Given the description of an element on the screen output the (x, y) to click on. 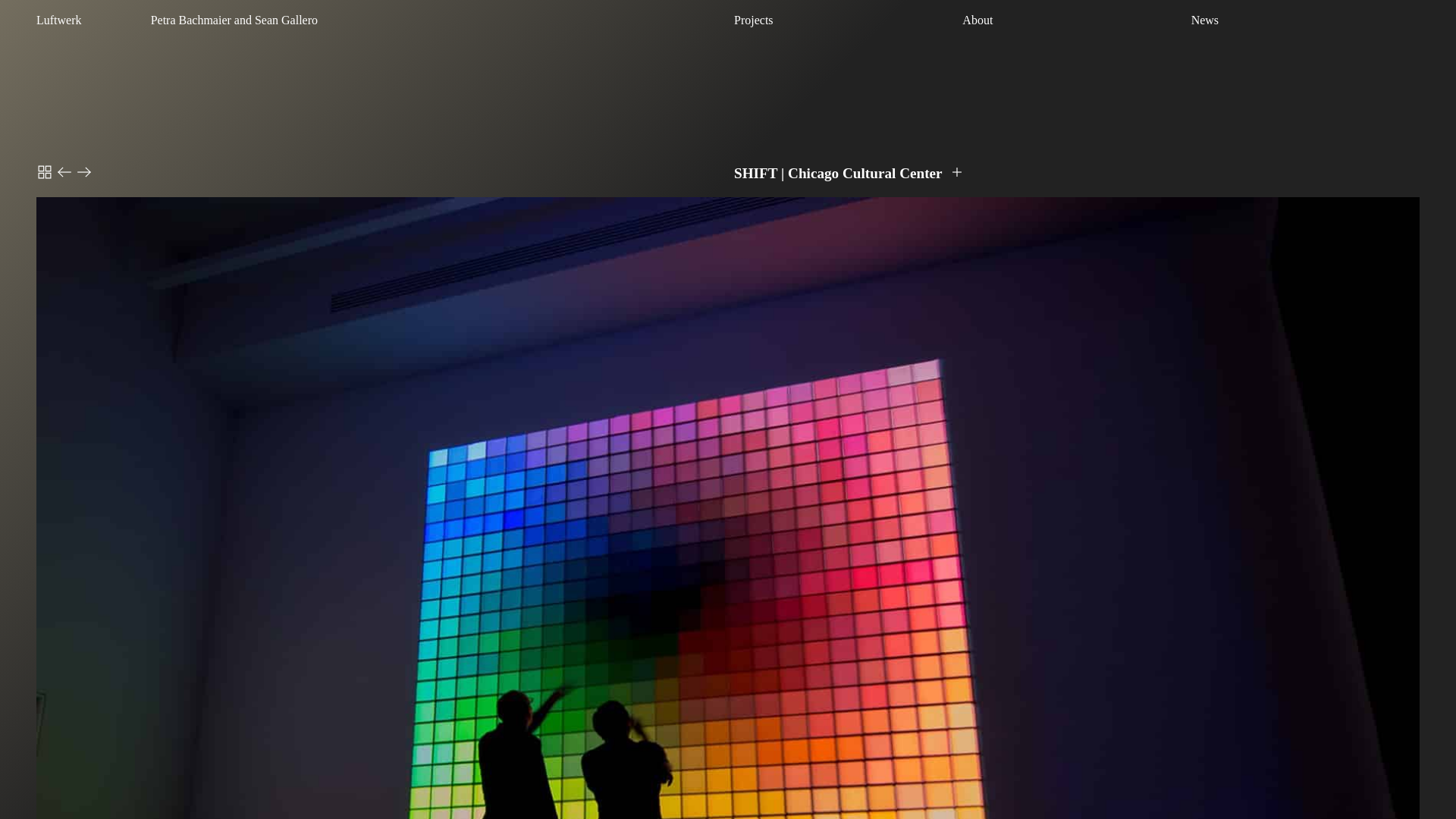
About (1073, 20)
Info (957, 171)
Next (84, 171)
Projects (844, 20)
All projects (44, 171)
Previous (64, 171)
